Given the description of an element on the screen output the (x, y) to click on. 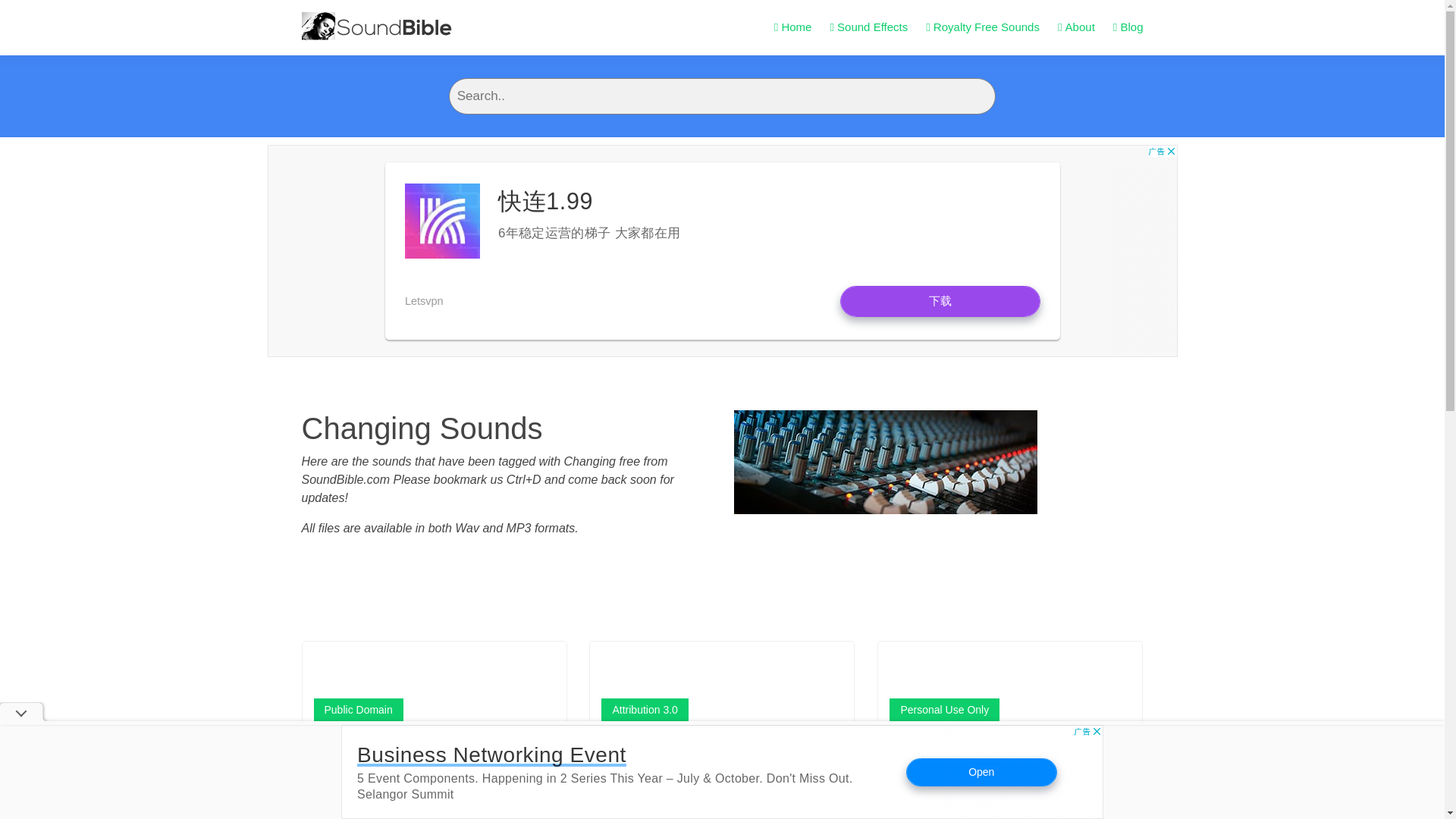
AM Radio Tuning (376, 742)
Sound Effects (868, 27)
Magic Wand Noise (668, 742)
Home (793, 27)
Channel Surfing (947, 742)
About (1076, 27)
Advertisement (721, 771)
Blog (1127, 27)
Royalty Free Sounds (982, 27)
